Given the description of an element on the screen output the (x, y) to click on. 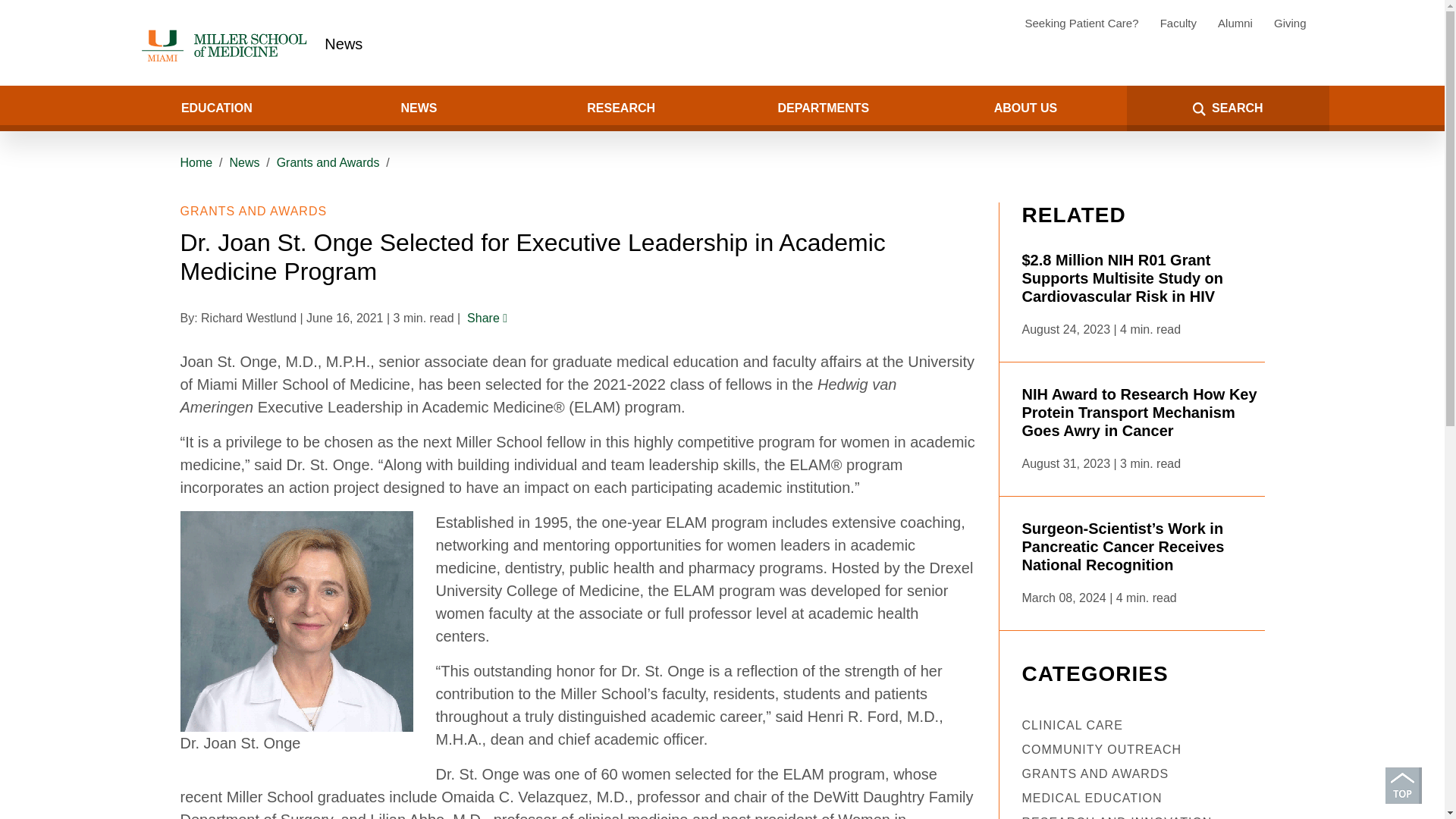
EDUCATION (216, 108)
News (343, 44)
Search (57, 108)
RESEARCH (620, 108)
Miller School of Medicine (227, 45)
NEWS (418, 108)
